Given the description of an element on the screen output the (x, y) to click on. 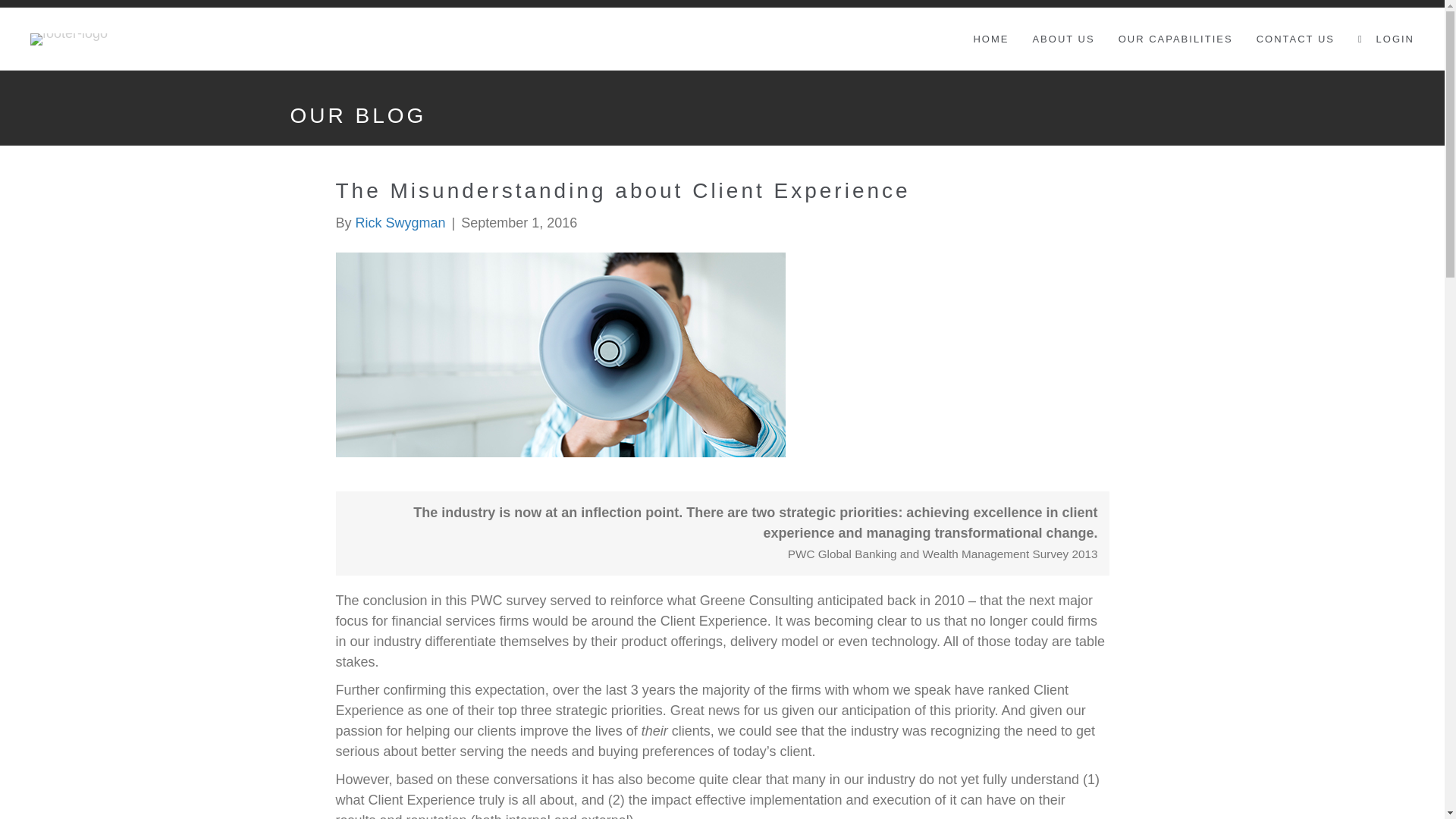
OUR CAPABILITIES (1175, 38)
  LOGIN (1385, 38)
HOME (990, 38)
ABOUT US (1062, 38)
footer-logo (68, 39)
Rick Swygman (400, 222)
CONTACT US (1294, 38)
